Given the description of an element on the screen output the (x, y) to click on. 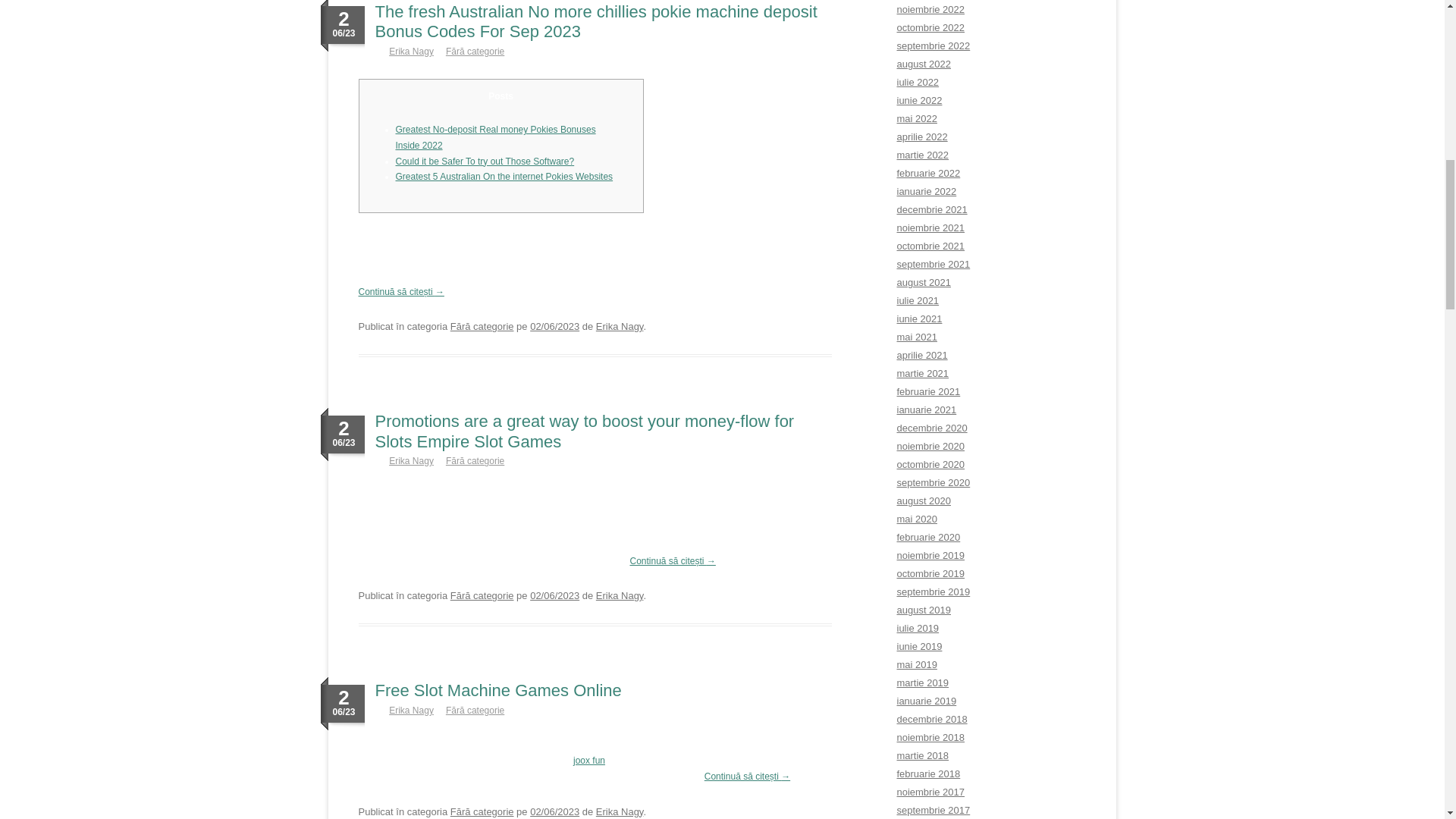
Could it be Safer To try out Those Software? (485, 161)
Greatest 5 Australian On the internet Pokies Websites (504, 176)
14:09 (554, 326)
Articole de Erika Nagy (410, 50)
Greatest No-deposit Real money Pokies Bonuses Inside 2022 (495, 137)
Toate articolele lui Erika Nagy (619, 326)
Erika Nagy (410, 50)
